Given the description of an element on the screen output the (x, y) to click on. 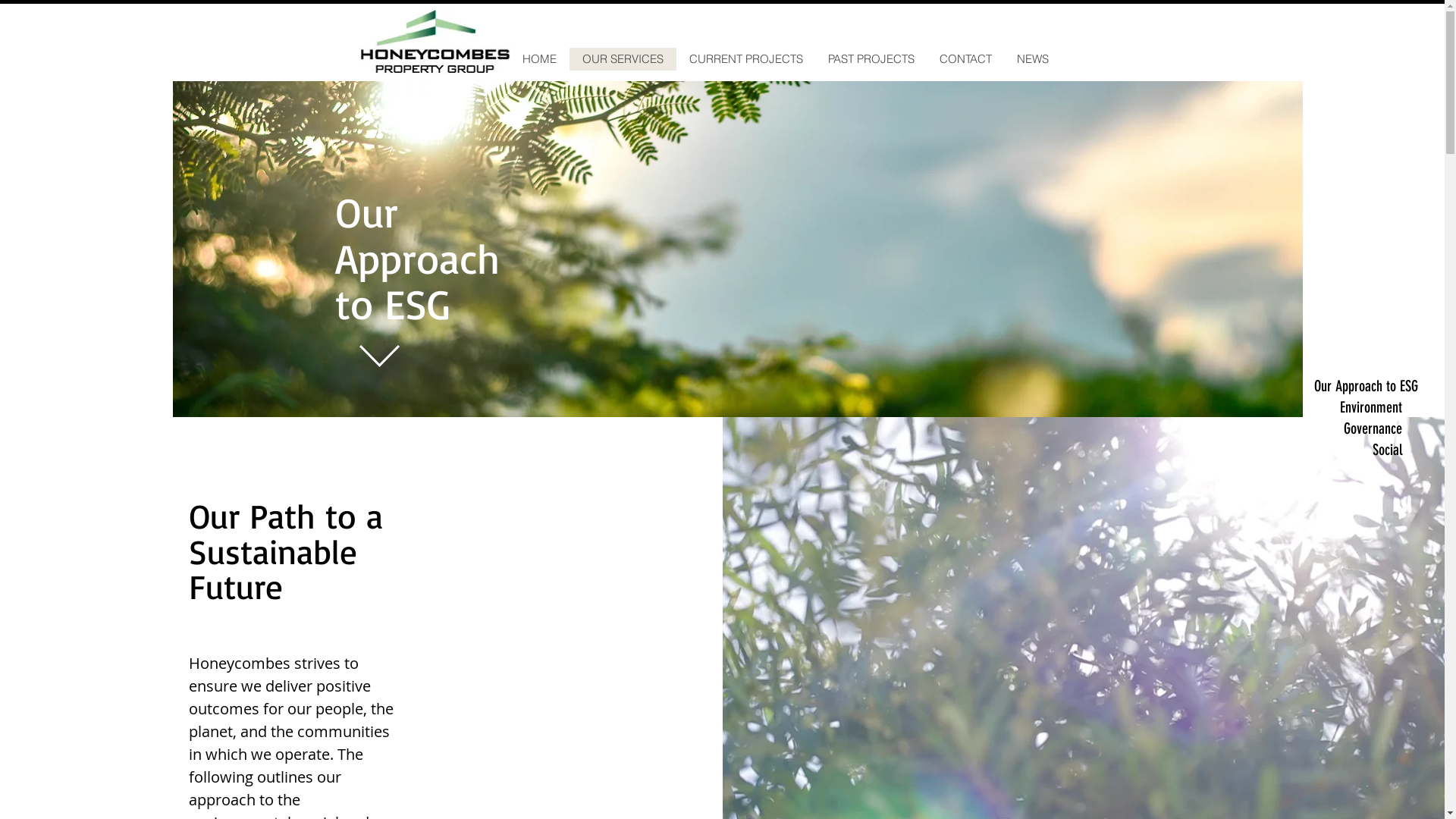
Social Element type: text (1358, 449)
PAST PROJECTS Element type: text (869, 58)
CONTACT Element type: text (965, 58)
HOME Element type: text (538, 58)
NEWS Element type: text (1032, 58)
Our Approach to ESG Element type: text (1358, 385)
Environment Element type: text (1358, 406)
CURRENT PROJECTS Element type: text (745, 58)
OUR SERVICES Element type: text (621, 58)
Governance Element type: text (1358, 428)
